Given the description of an element on the screen output the (x, y) to click on. 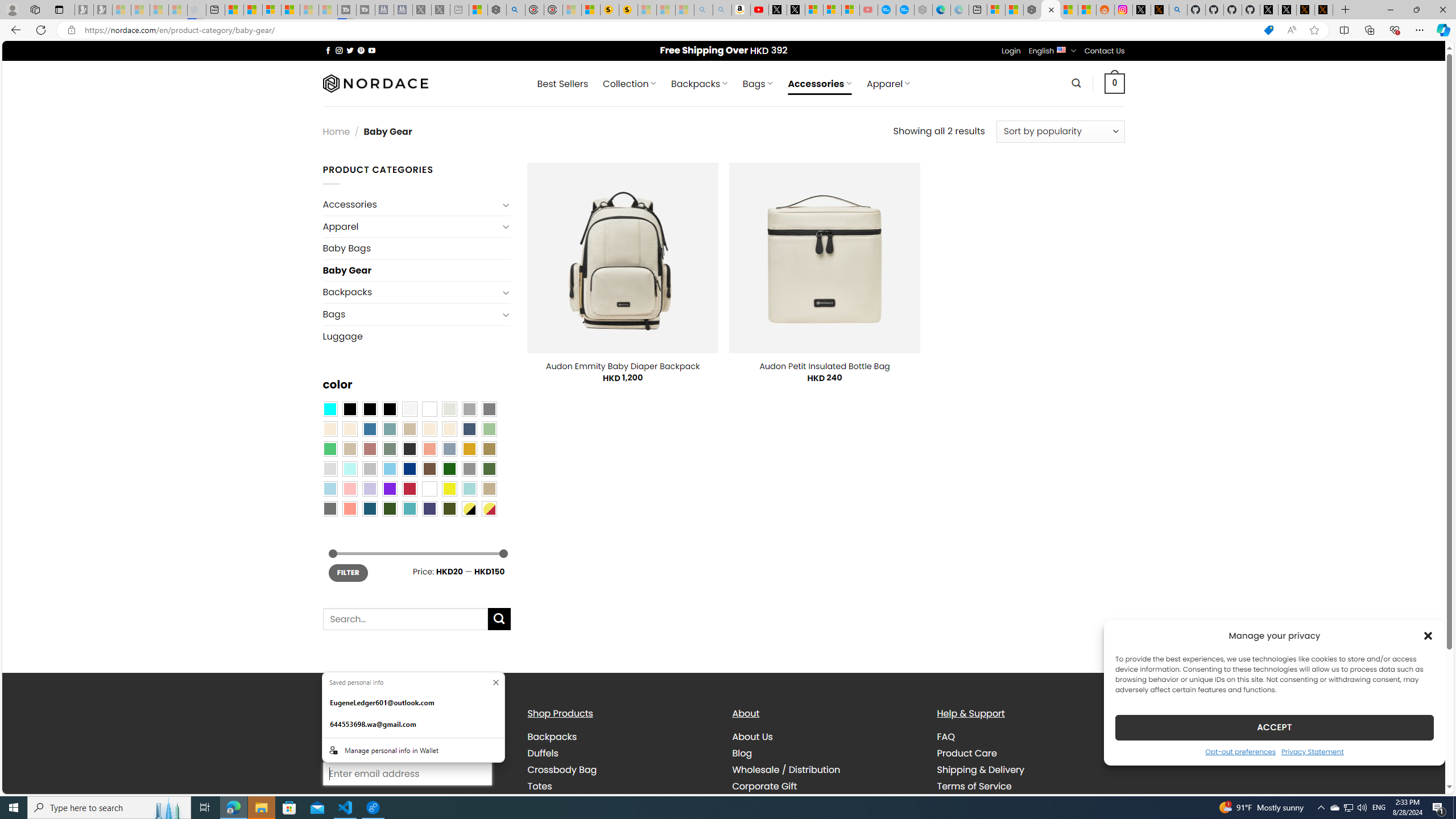
Gloom - YouTube - Sleeping (868, 9)
Light Green (488, 428)
Accessories (410, 204)
Black-Brown (389, 408)
Purple (389, 488)
Beige-Brown (349, 428)
Light Blue (329, 488)
